Given the description of an element on the screen output the (x, y) to click on. 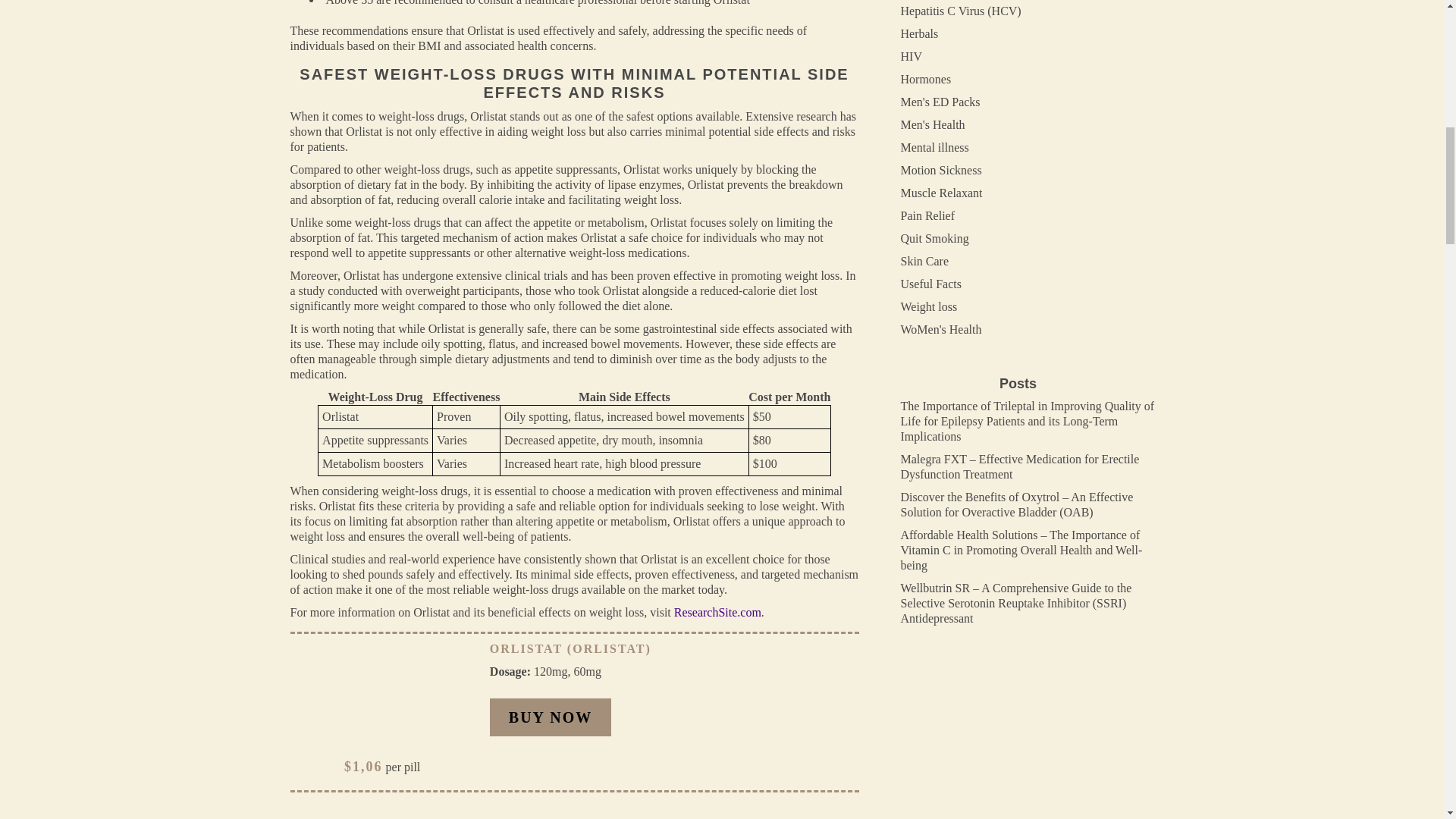
BUY NOW (550, 717)
HIV (911, 56)
ResearchSite.com (717, 612)
Herbals (920, 33)
